Given the description of an element on the screen output the (x, y) to click on. 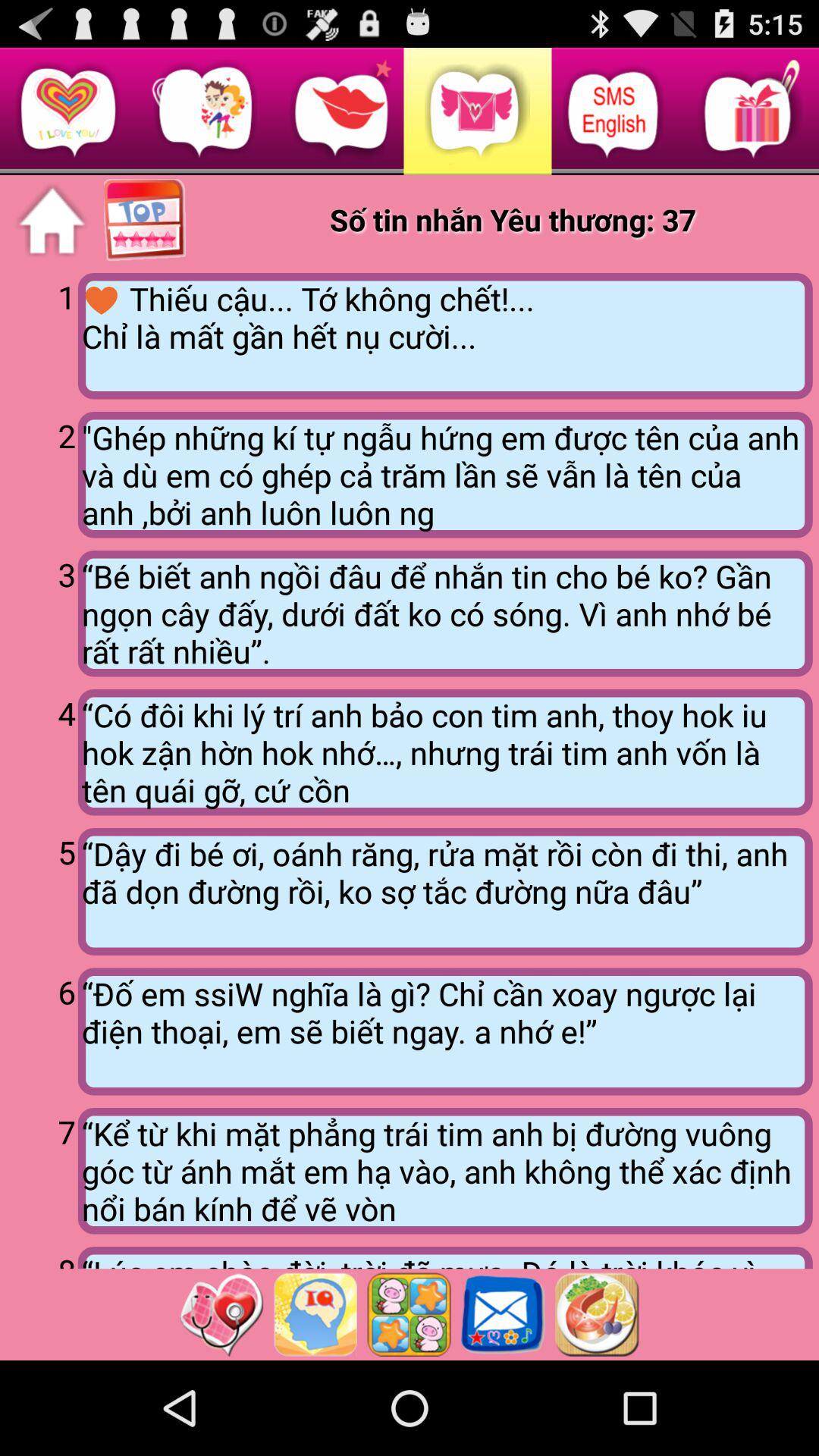
man mind (315, 1314)
